Given the description of an element on the screen output the (x, y) to click on. 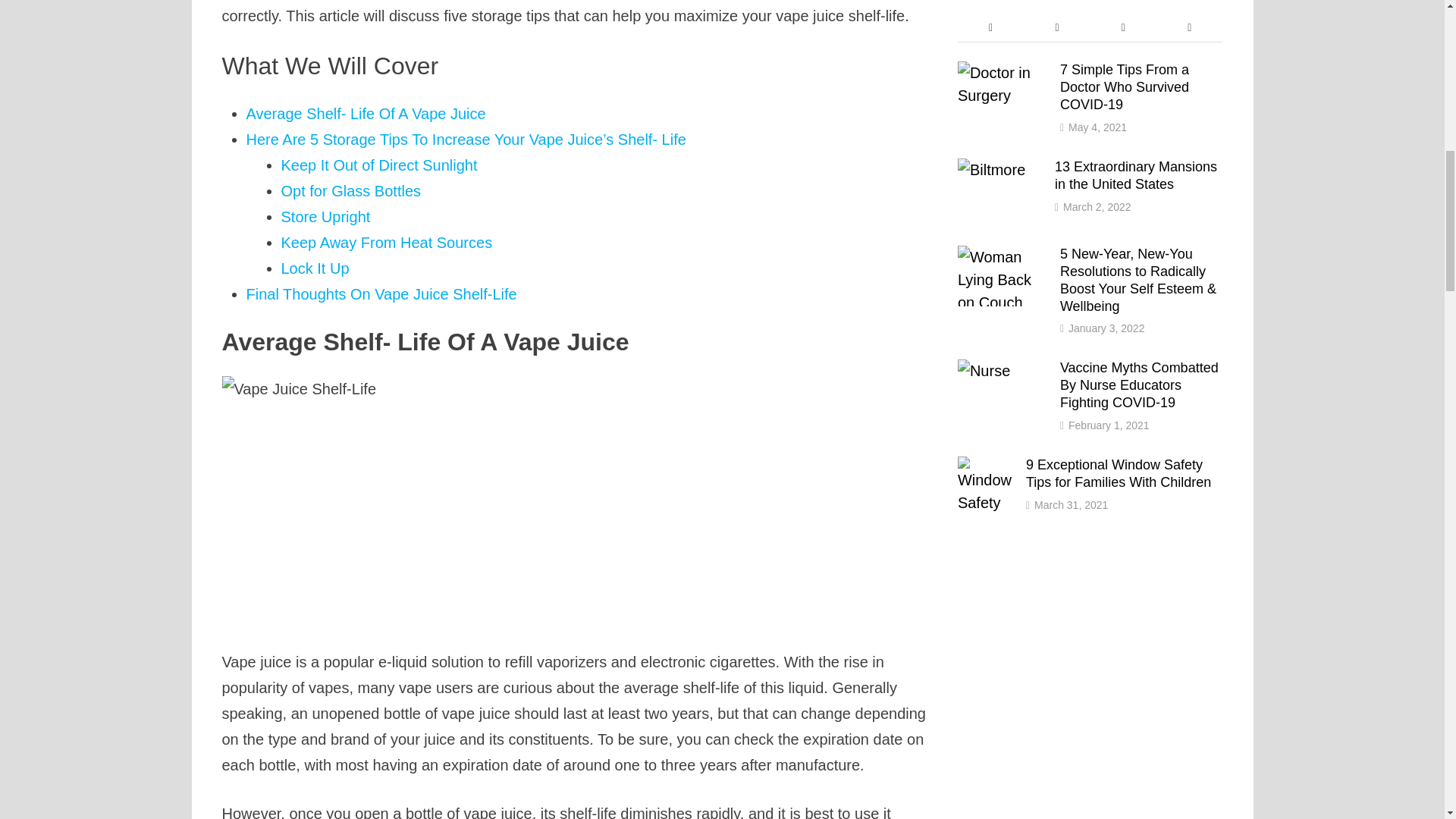
Average Shelf- Life Of A Vape Juice (365, 113)
9 Exceptional Window Safety Tips for Families With Children (986, 467)
7 Simple Tips From a Doctor Who Survived COVID-19 (1003, 72)
Keep It Out of Direct Sunlight (379, 165)
Vaccine Myths Combatted By Nurse Educators Fighting COVID-19 (1003, 370)
13 Extraordinary Mansions in the United States (1000, 169)
